Given the description of an element on the screen output the (x, y) to click on. 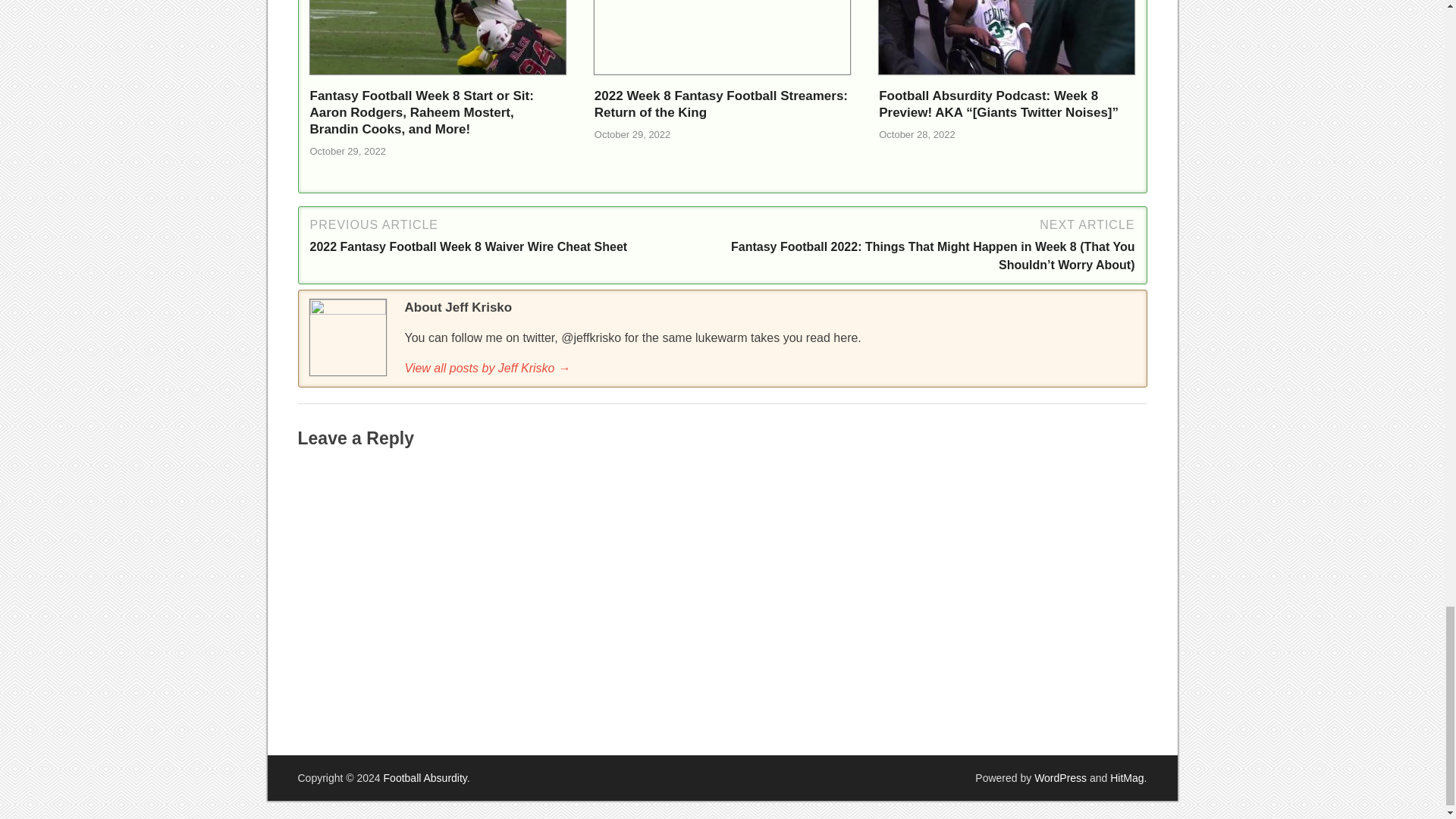
Football Absurdity (425, 777)
2022 Week 8 Fantasy Football Streamers: Return of the King (722, 78)
Jeff Krisko (769, 368)
HitMag WordPress Theme (1125, 777)
Football Absurdity (425, 777)
